Given the description of an element on the screen output the (x, y) to click on. 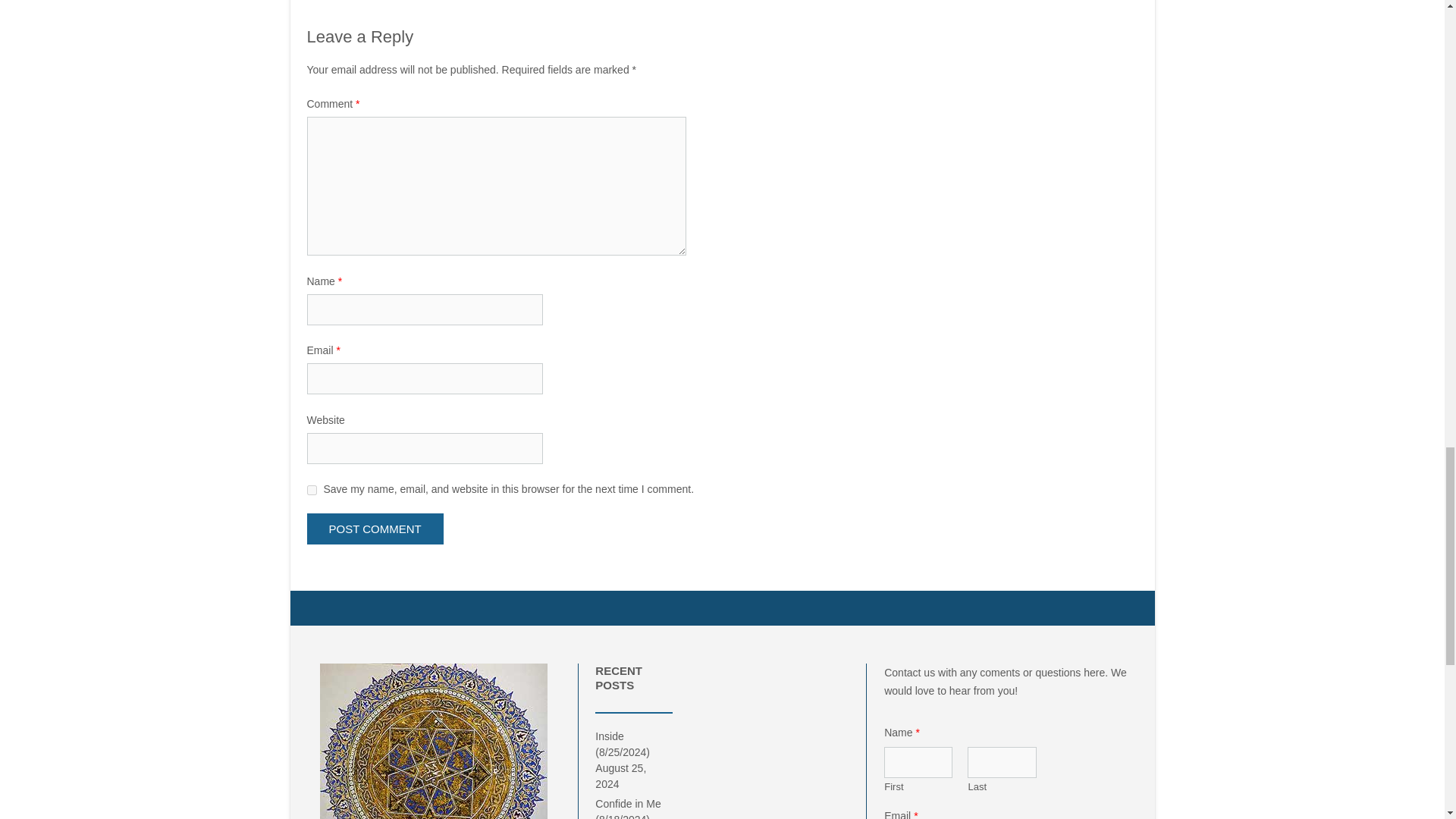
yes (310, 490)
Post Comment (373, 528)
Post Comment (373, 528)
